Given the description of an element on the screen output the (x, y) to click on. 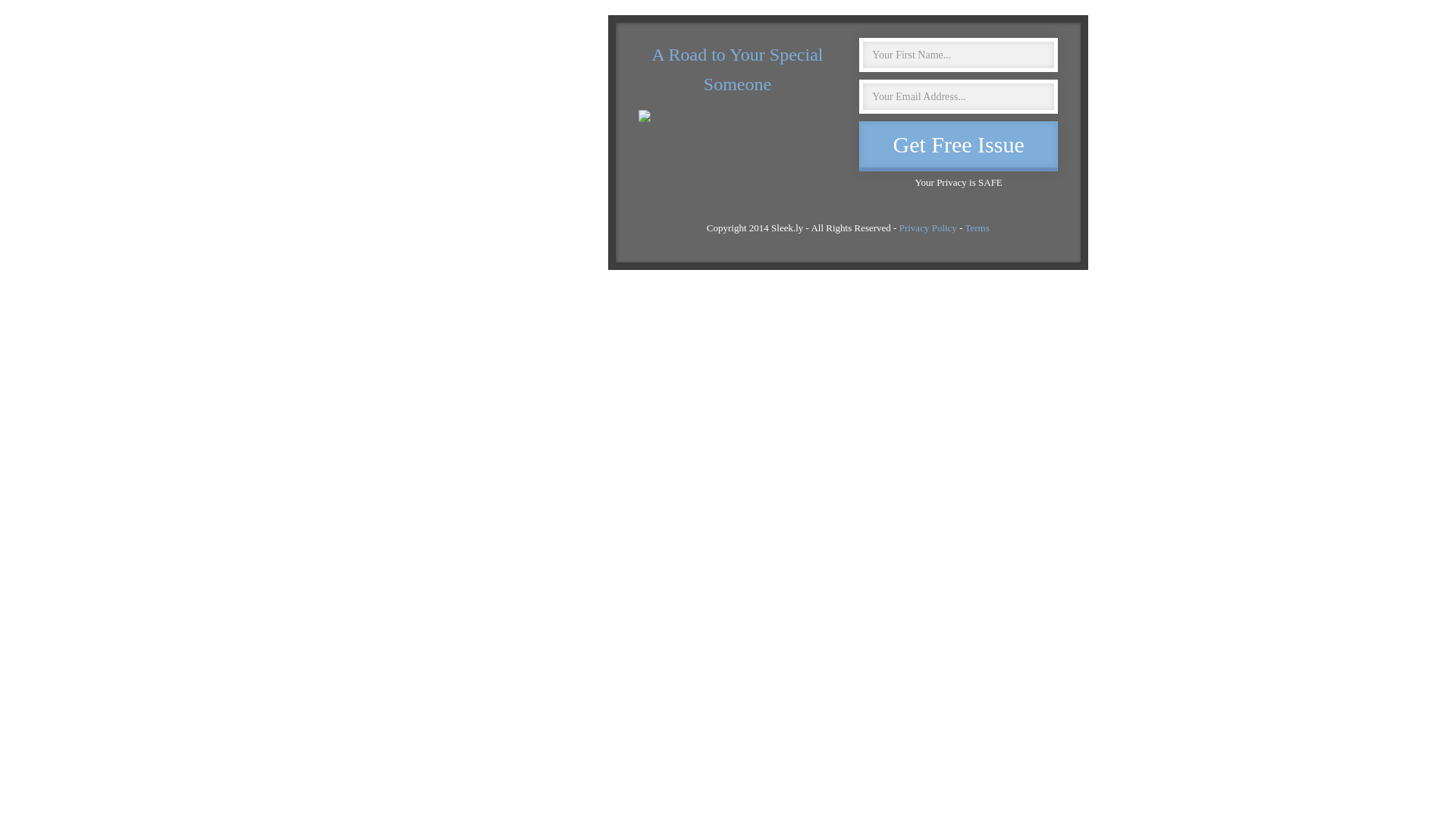
Privacy Policy Element type: text (928, 227)
Terms Element type: text (976, 227)
Get Free Issue Element type: text (958, 146)
